Given the description of an element on the screen output the (x, y) to click on. 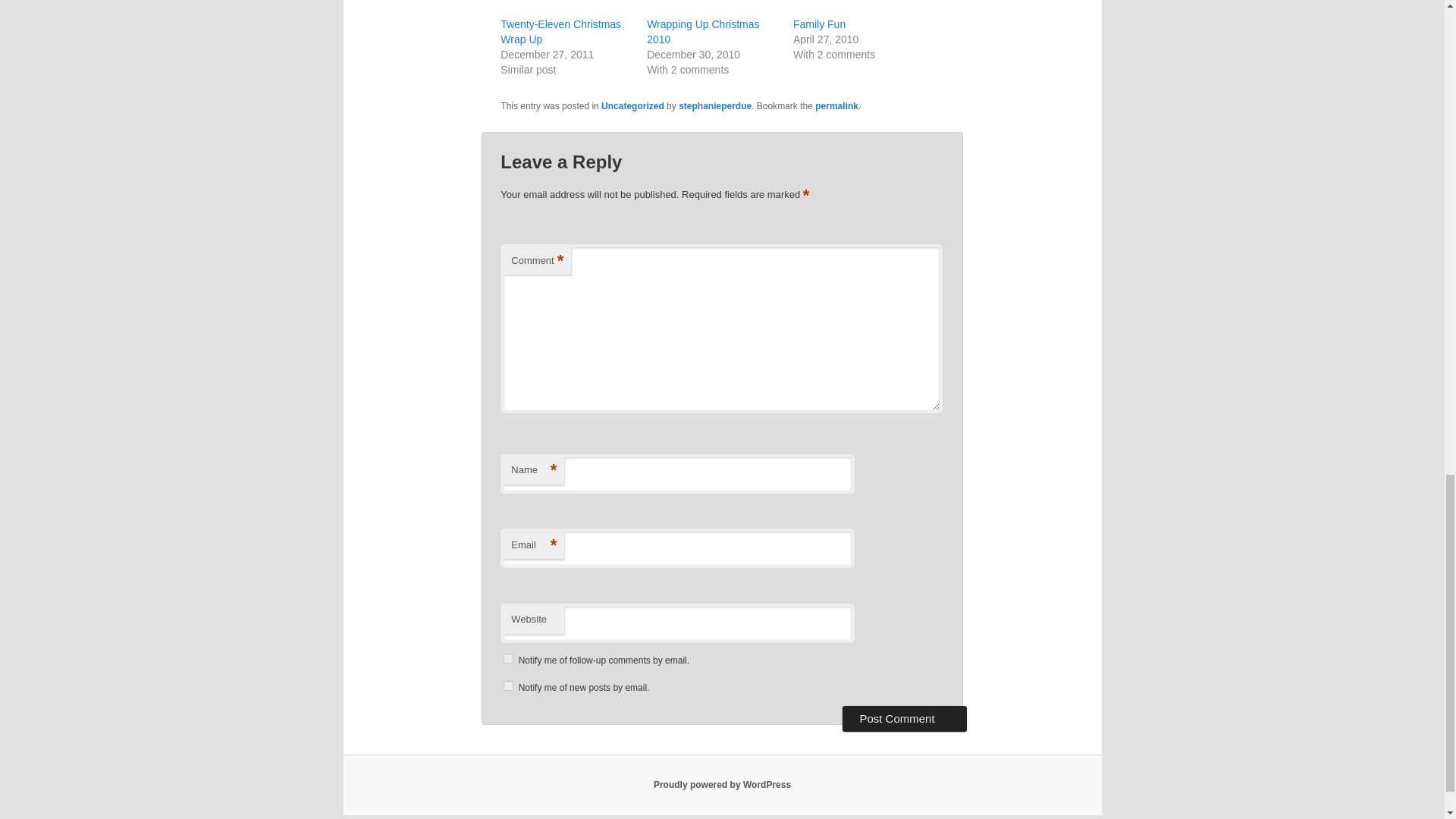
Wrapping Up Christmas 2010 (702, 31)
subscribe (508, 685)
Permalink to Christmas Weekend 2008 (837, 105)
Family Fun (819, 24)
permalink (837, 105)
Family Fun (819, 24)
Wrapping Up Christmas 2010 (702, 31)
stephanieperdue (714, 105)
subscribe (508, 658)
Post Comment (904, 718)
Proudly powered by WordPress (721, 784)
Twenty-Eleven Christmas Wrap Up (560, 31)
Semantic Personal Publishing Platform (721, 784)
Uncategorized (632, 105)
Twenty-Eleven Christmas Wrap Up (560, 31)
